Given the description of an element on the screen output the (x, y) to click on. 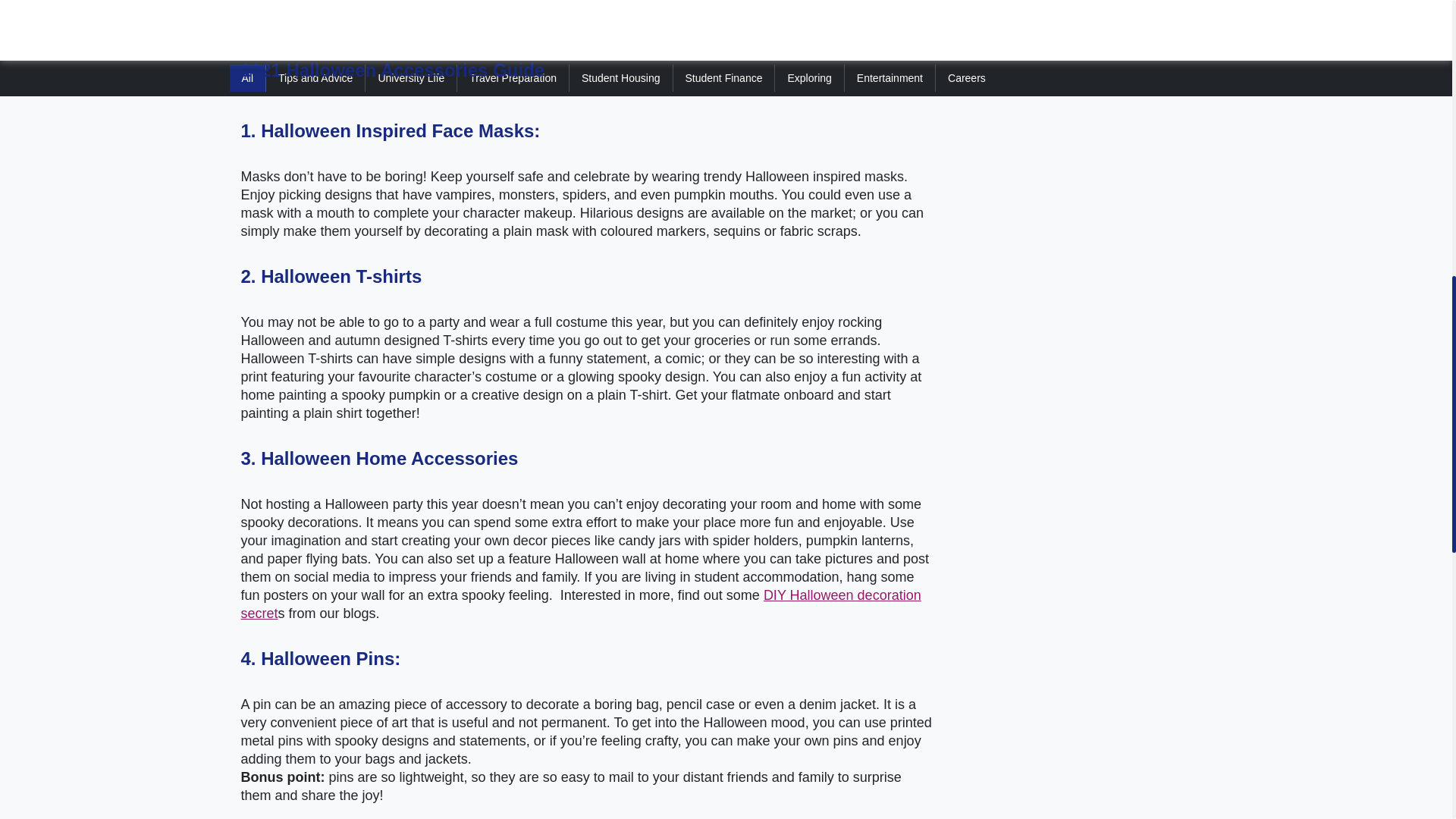
DIY Halloween decoration secret (581, 603)
